Given the description of an element on the screen output the (x, y) to click on. 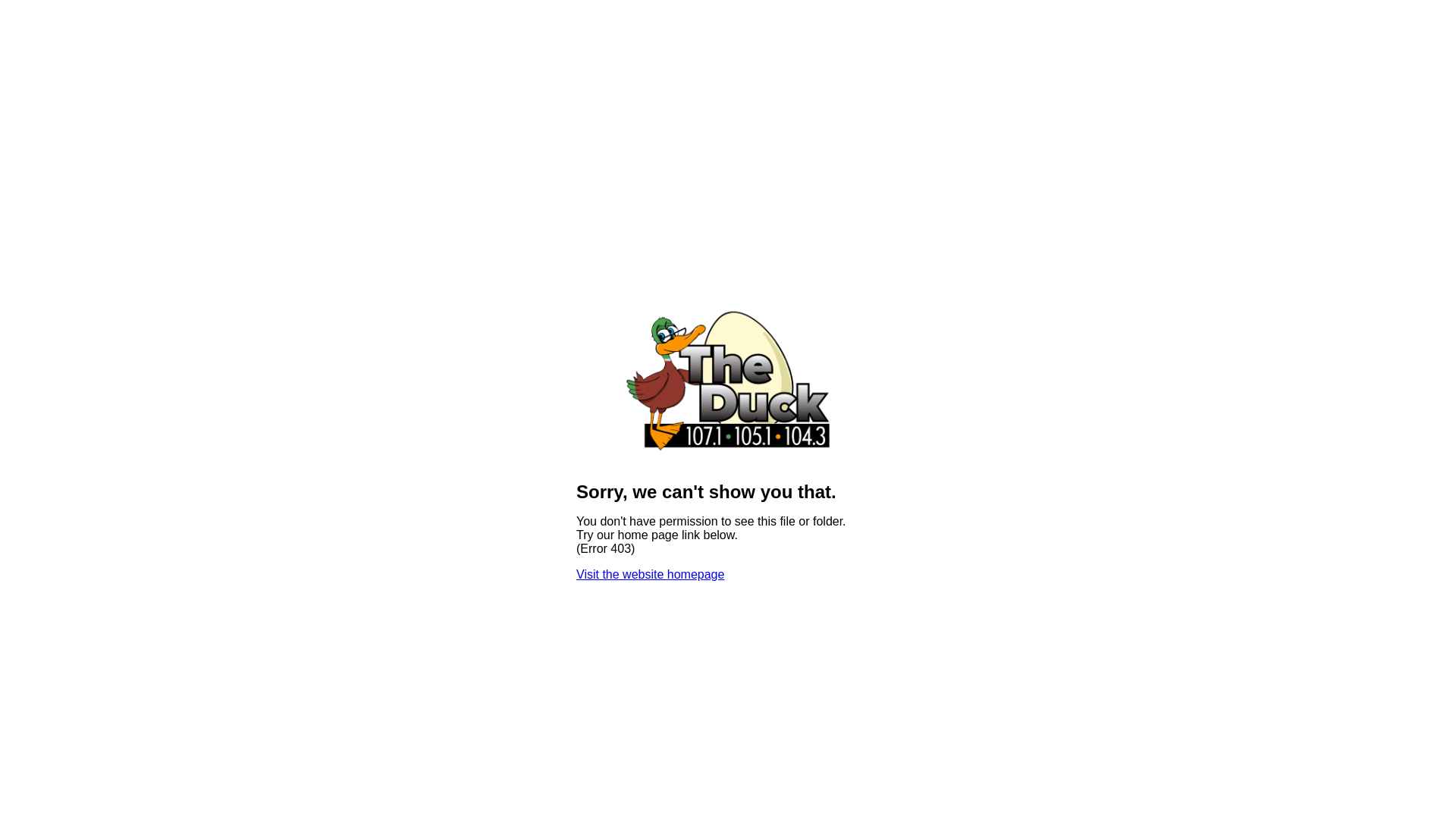
Visit the website homepage Element type: text (650, 573)
